Given the description of an element on the screen output the (x, y) to click on. 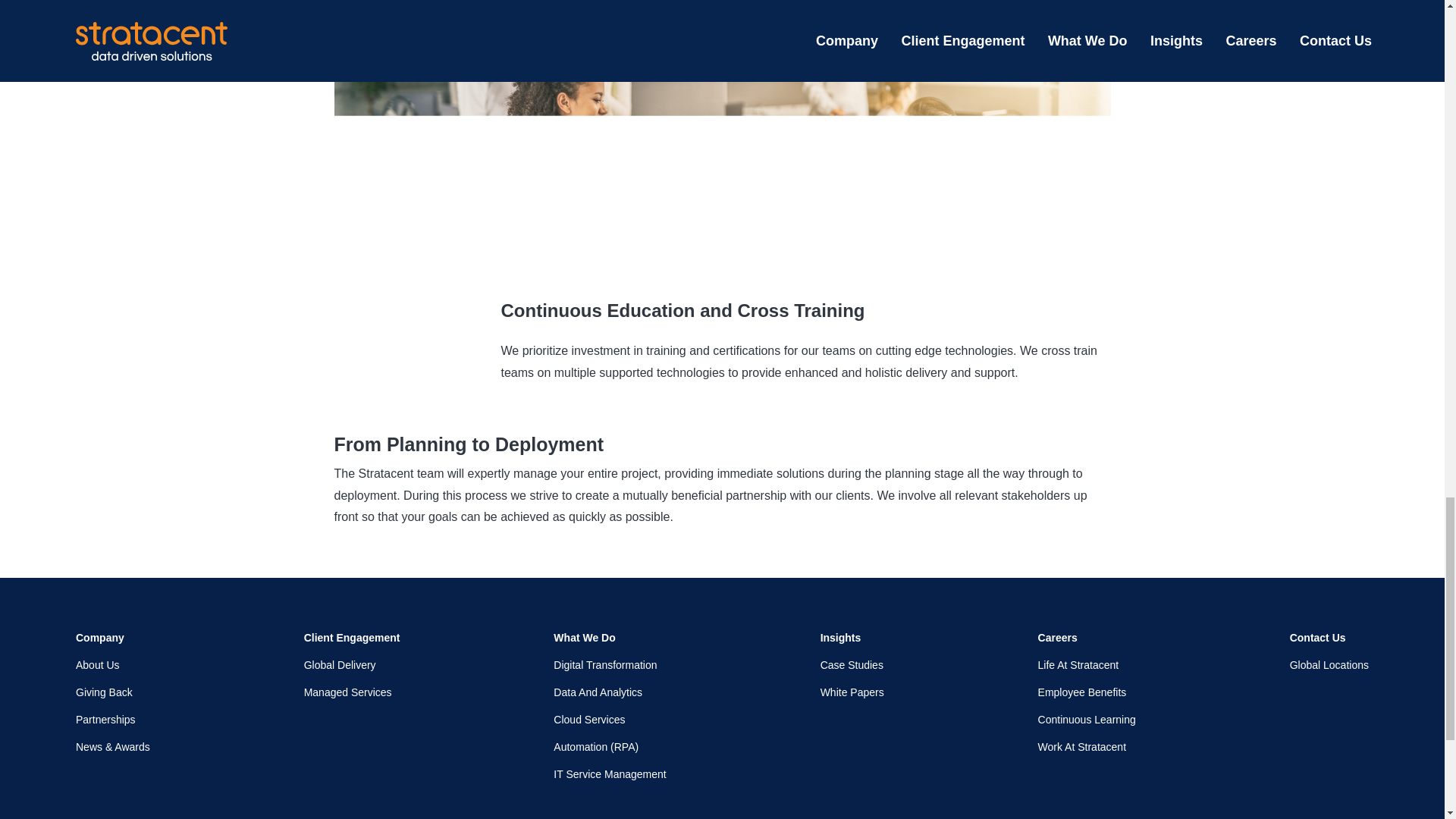
Client Engagement (352, 637)
Managed Services (352, 692)
Giving Back (112, 692)
About Us (112, 664)
Data And Analytics (609, 692)
What We Do (609, 637)
Insights (852, 637)
IT Service Management (609, 774)
Digital Transformation (609, 664)
Global Delivery (352, 664)
Company (112, 637)
Cloud Services (609, 719)
Partnerships (112, 719)
